Given the description of an element on the screen output the (x, y) to click on. 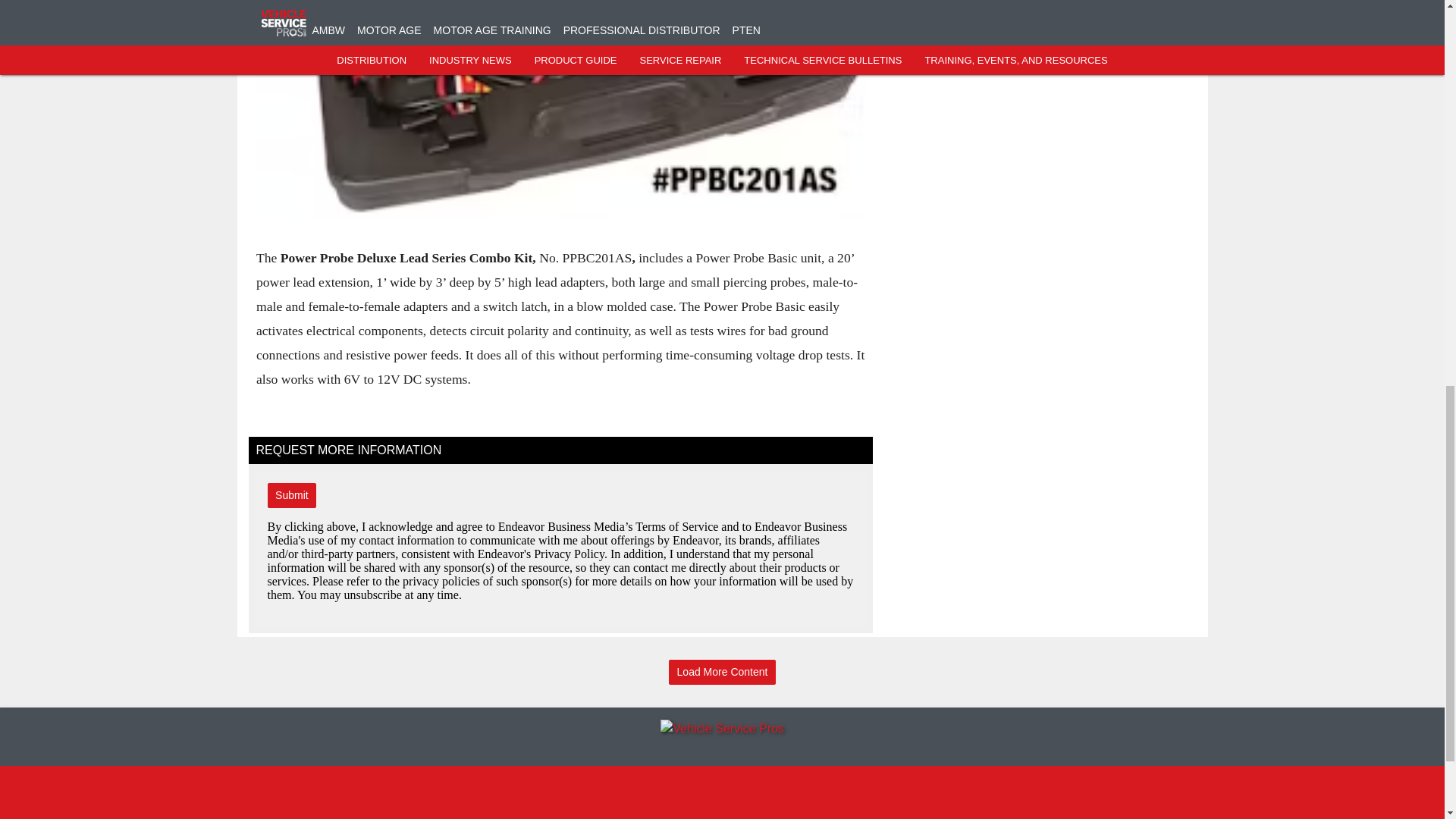
Power Probe Deluxe Lead Series Combo Kit 57fbdd5075ce9 (560, 109)
Submit (290, 495)
